Given the description of an element on the screen output the (x, y) to click on. 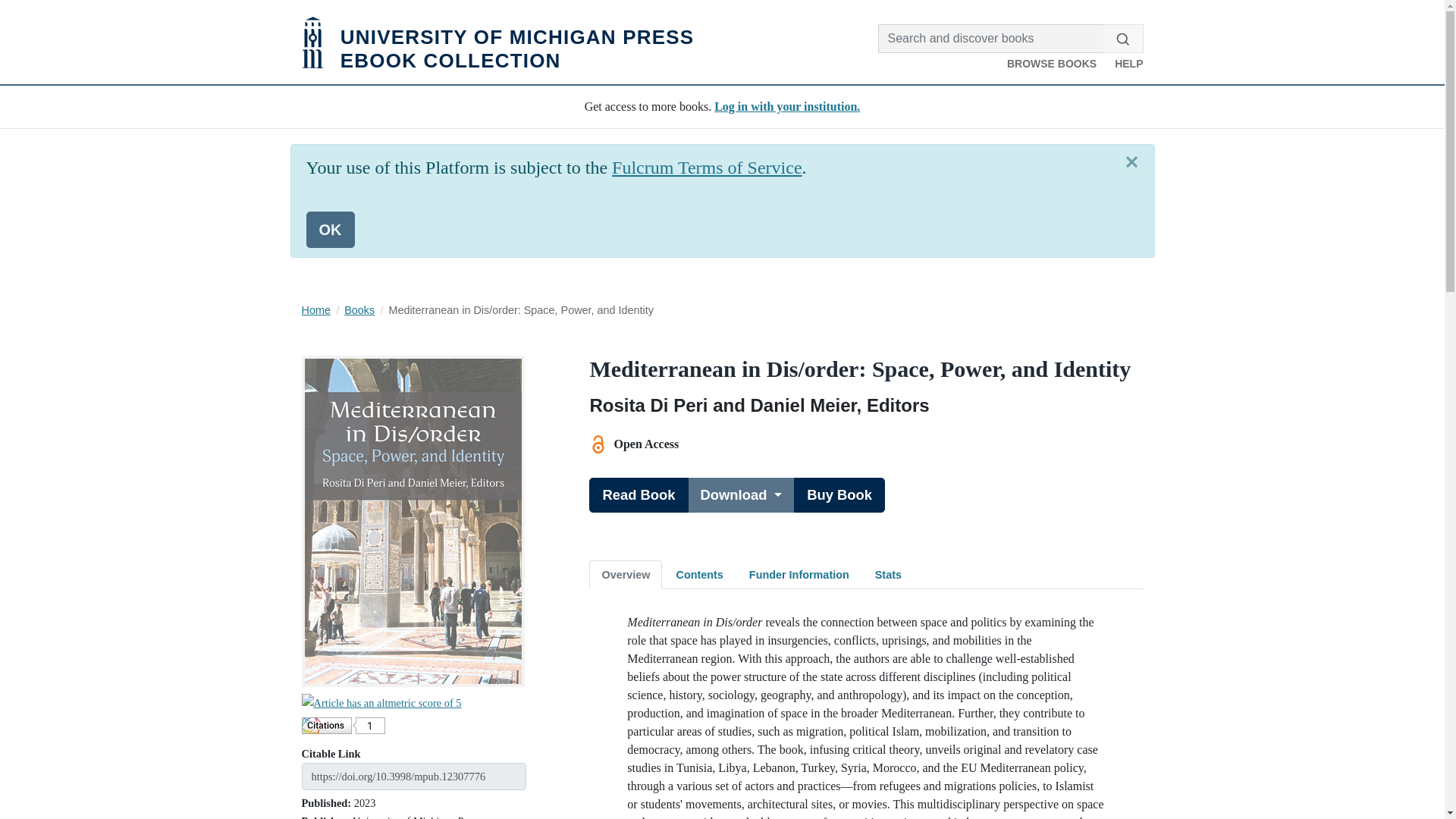
Log in with your institution. (787, 106)
Search (1122, 38)
Funder Information (798, 574)
Stats (888, 574)
Read Book (638, 494)
Fulcrum Terms of Service (706, 167)
Buy Book (839, 494)
OK (497, 42)
Books (330, 229)
Download (358, 309)
Overview (740, 494)
Search (625, 574)
Home (1122, 38)
Contents (315, 309)
